Given the description of an element on the screen output the (x, y) to click on. 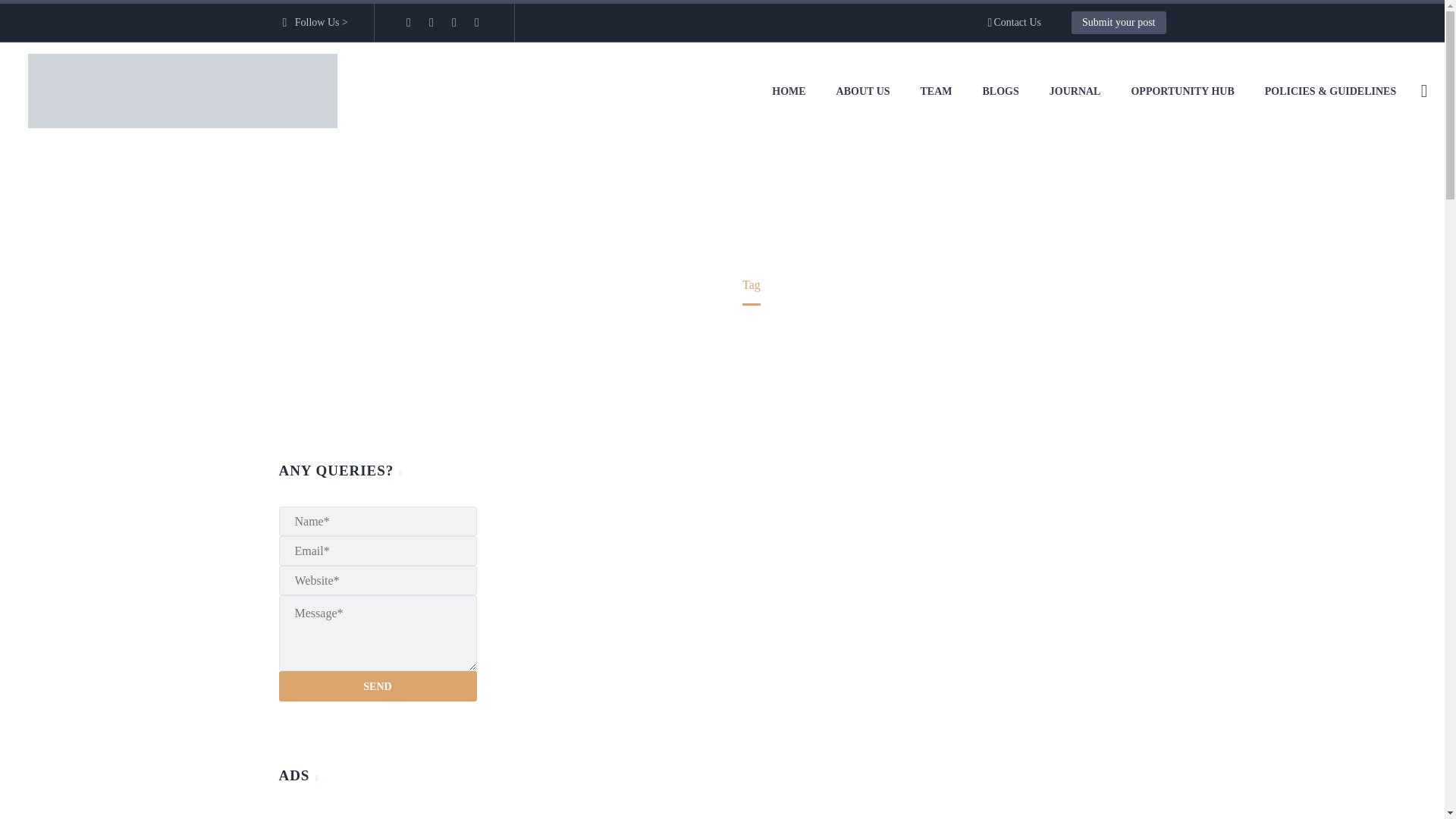
Facebook (408, 22)
Send (378, 685)
Home (698, 284)
LinkedIn (431, 22)
Contact Us (1014, 22)
YouTube (476, 22)
BLOGS (1000, 90)
Instagram (453, 22)
OPPORTUNITY HUB (1182, 90)
Submit your post (1118, 22)
ABOUT US (863, 90)
JOURNAL (1074, 90)
